Given the description of an element on the screen output the (x, y) to click on. 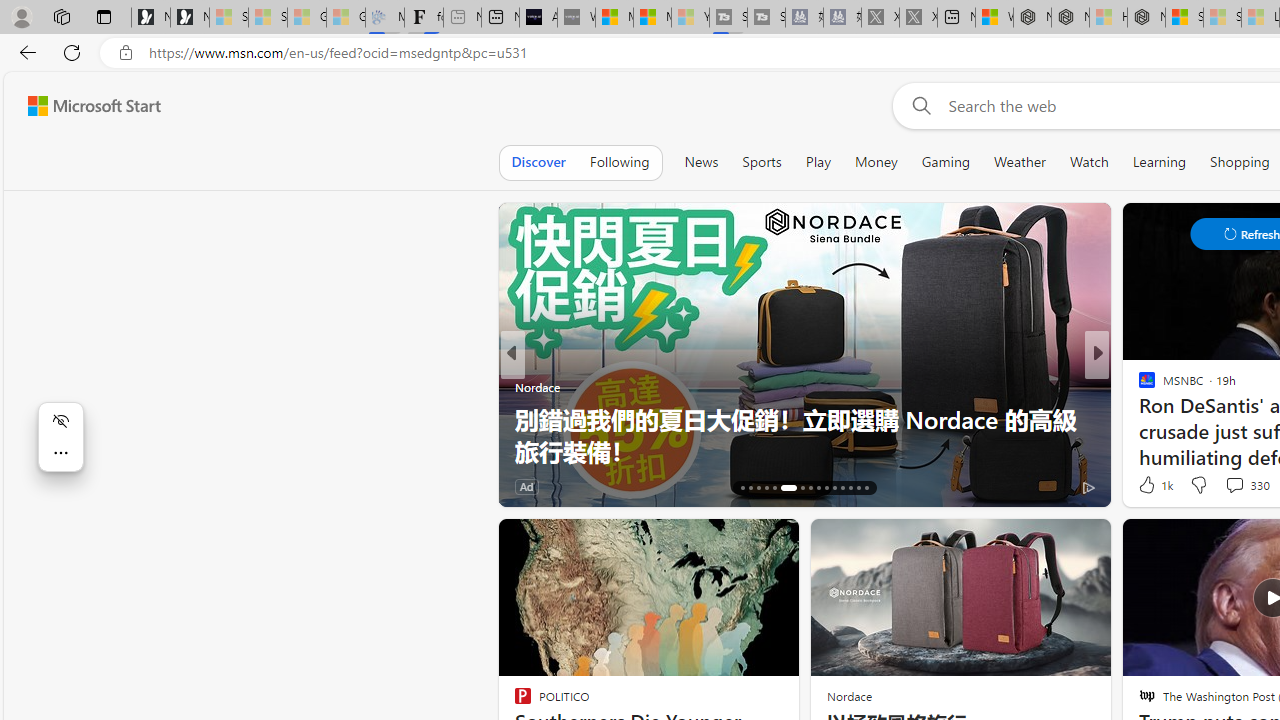
5 Like (1145, 486)
View comments 33 Comment (1229, 485)
View comments 96 Comment (1234, 485)
181 Like (1151, 486)
View comments 152 Comment (11, 485)
View comments 2 Comment (1234, 486)
What's the best AI voice generator? - voice.ai - Sleeping (576, 17)
AutomationID: tab-25 (825, 487)
1k Like (1154, 484)
View comments 1 Comment (1229, 485)
